Given the description of an element on the screen output the (x, y) to click on. 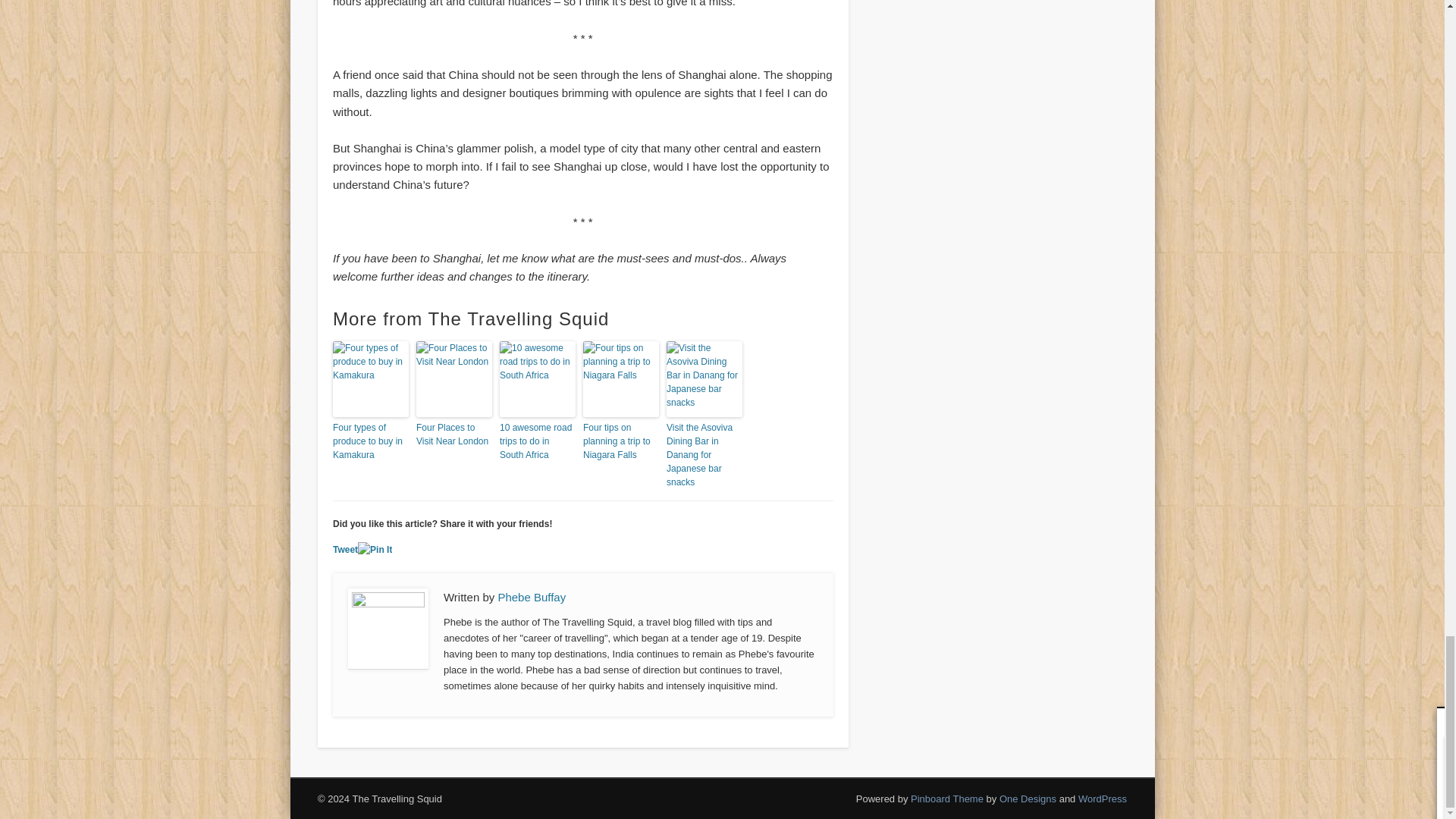
Pinboard Theme (947, 798)
One Designs (1027, 798)
WordPress (1102, 798)
Pin It (374, 549)
Posts by Phebe Buffay (531, 596)
